Given the description of an element on the screen output the (x, y) to click on. 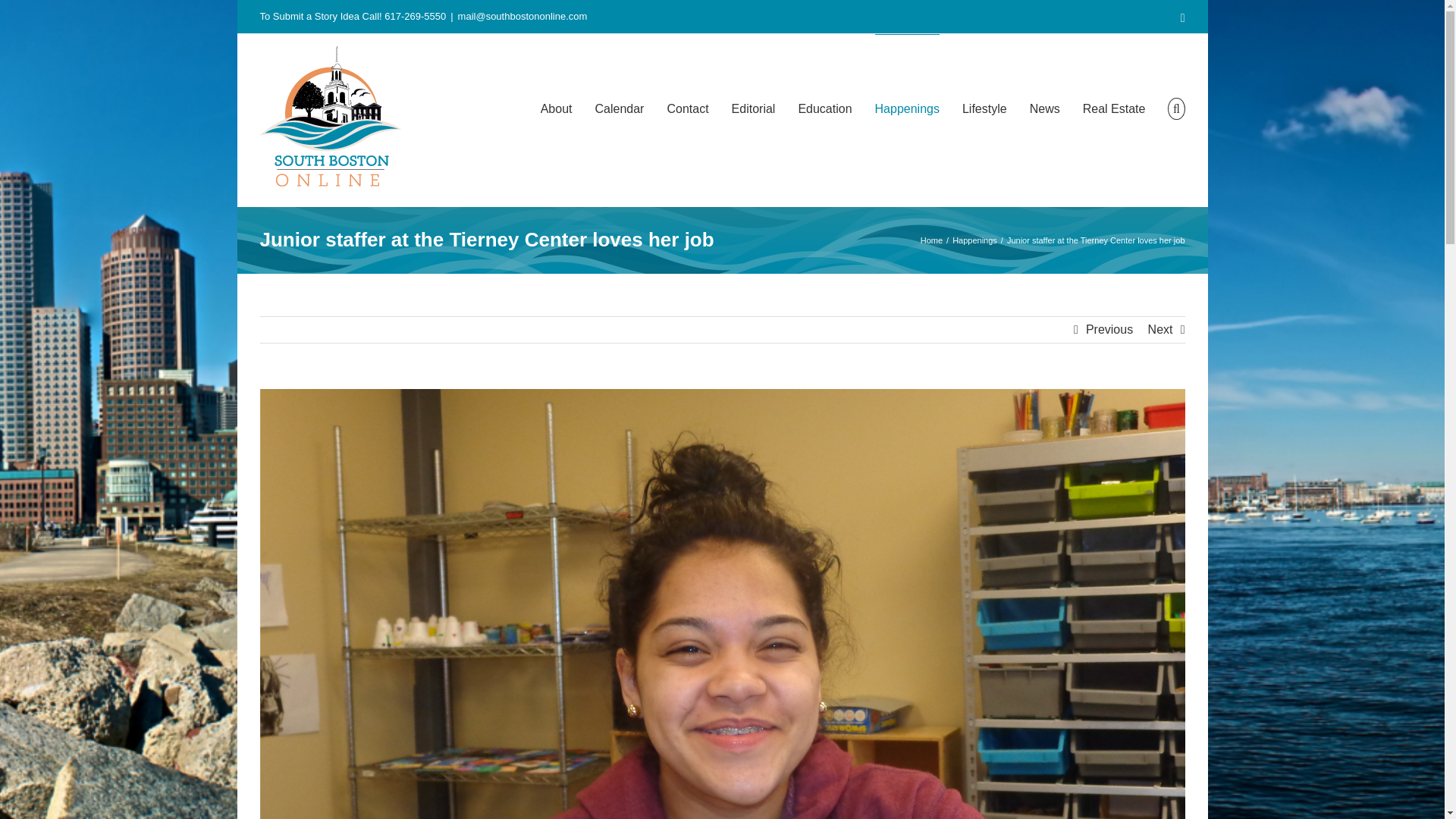
Happenings (974, 239)
Previous (1109, 329)
Home (931, 239)
Next (1160, 329)
